Given the description of an element on the screen output the (x, y) to click on. 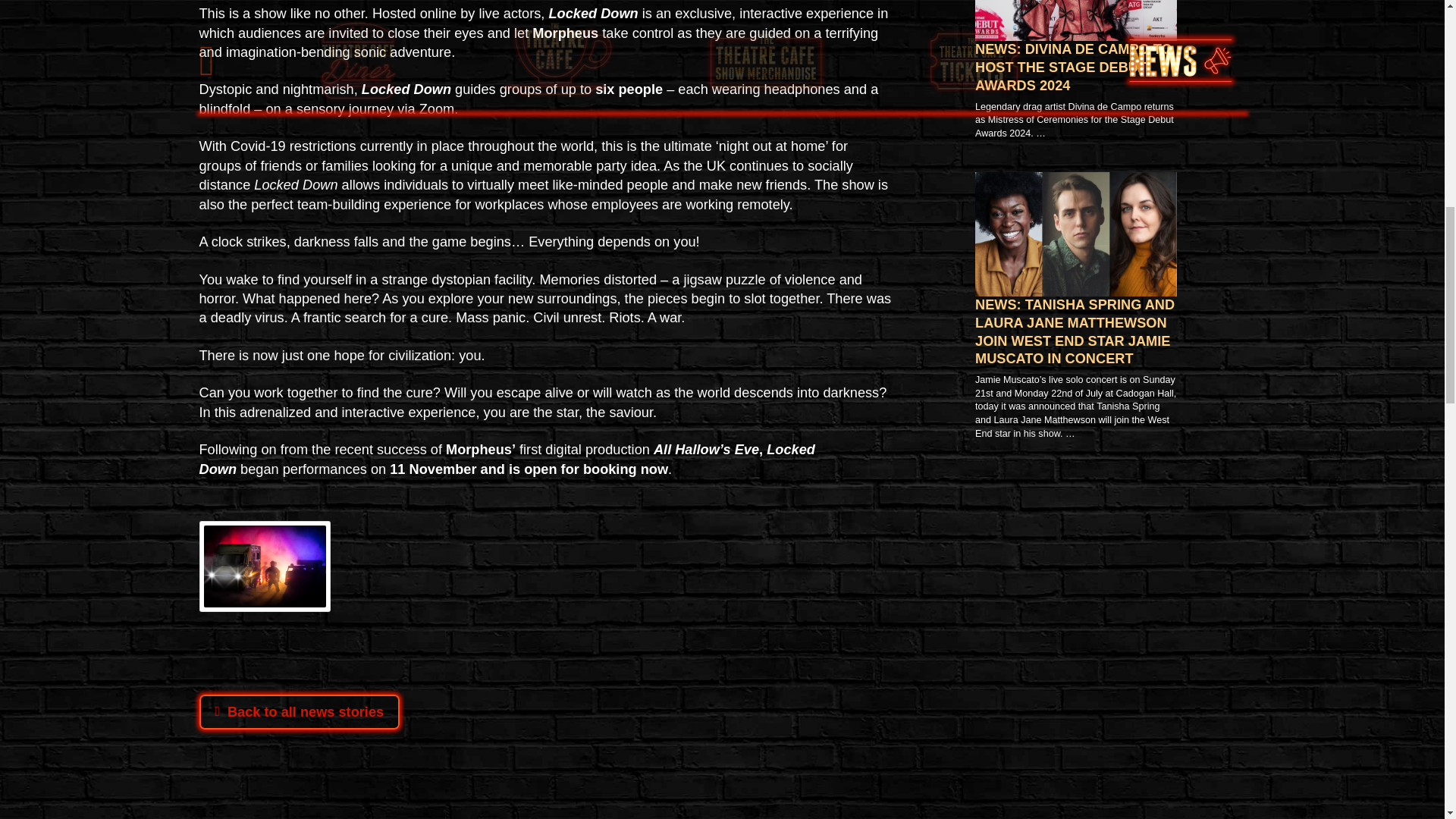
Back to all news stories (298, 711)
